Given the description of an element on the screen output the (x, y) to click on. 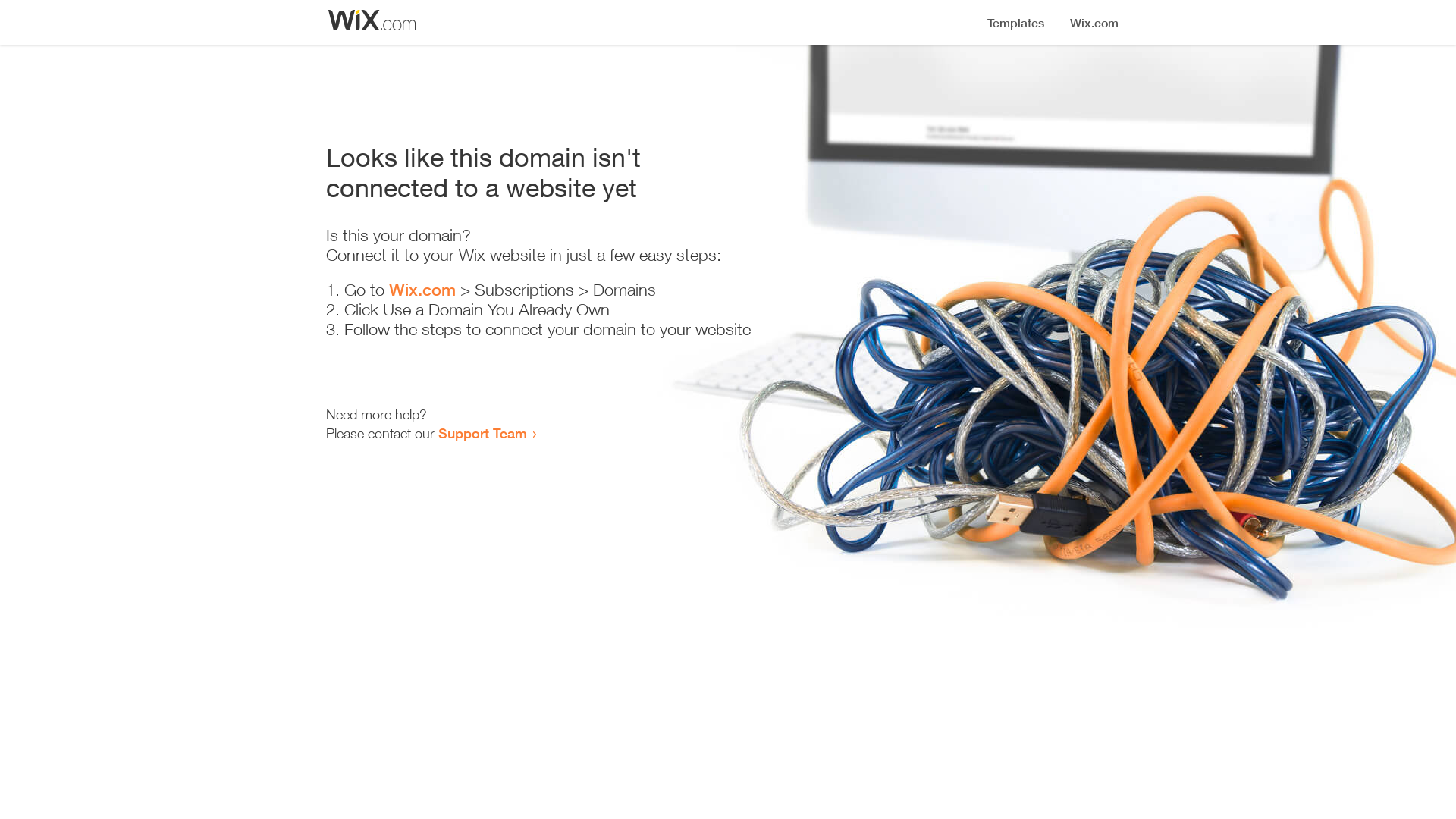
Support Team Element type: text (482, 432)
Wix.com Element type: text (422, 289)
